Given the description of an element on the screen output the (x, y) to click on. 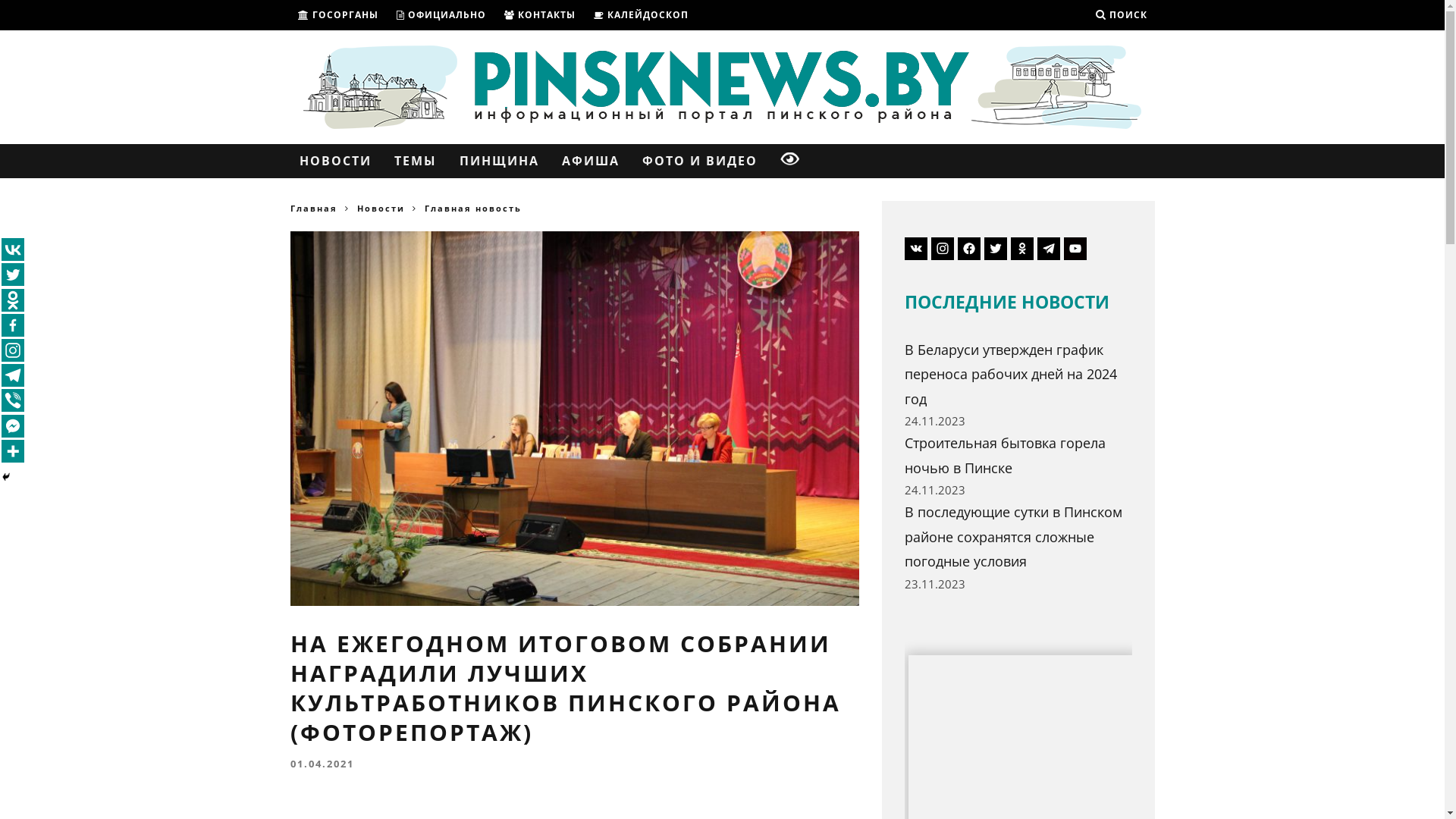
Hide Element type: hover (6, 476)
Facebook Element type: hover (12, 324)
Odnoklassniki Element type: hover (12, 299)
More Element type: hover (12, 450)
Telegram Element type: hover (12, 375)
Vkontakte Element type: hover (12, 249)
Twitter Element type: hover (12, 274)
Viber Element type: hover (12, 400)
Instagram Element type: hover (12, 349)
